Given the description of an element on the screen output the (x, y) to click on. 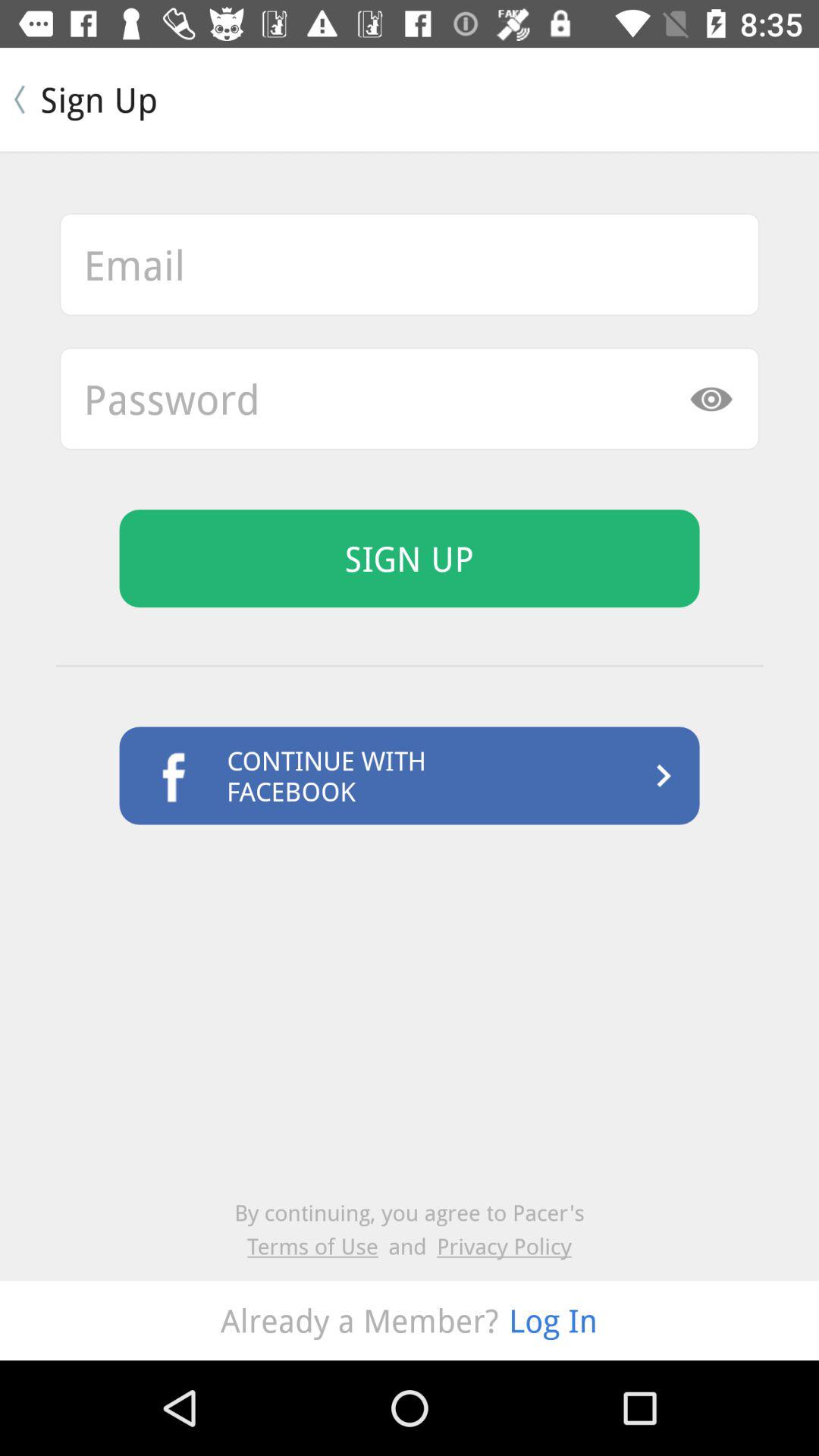
click item next to the and (317, 1245)
